Given the description of an element on the screen output the (x, y) to click on. 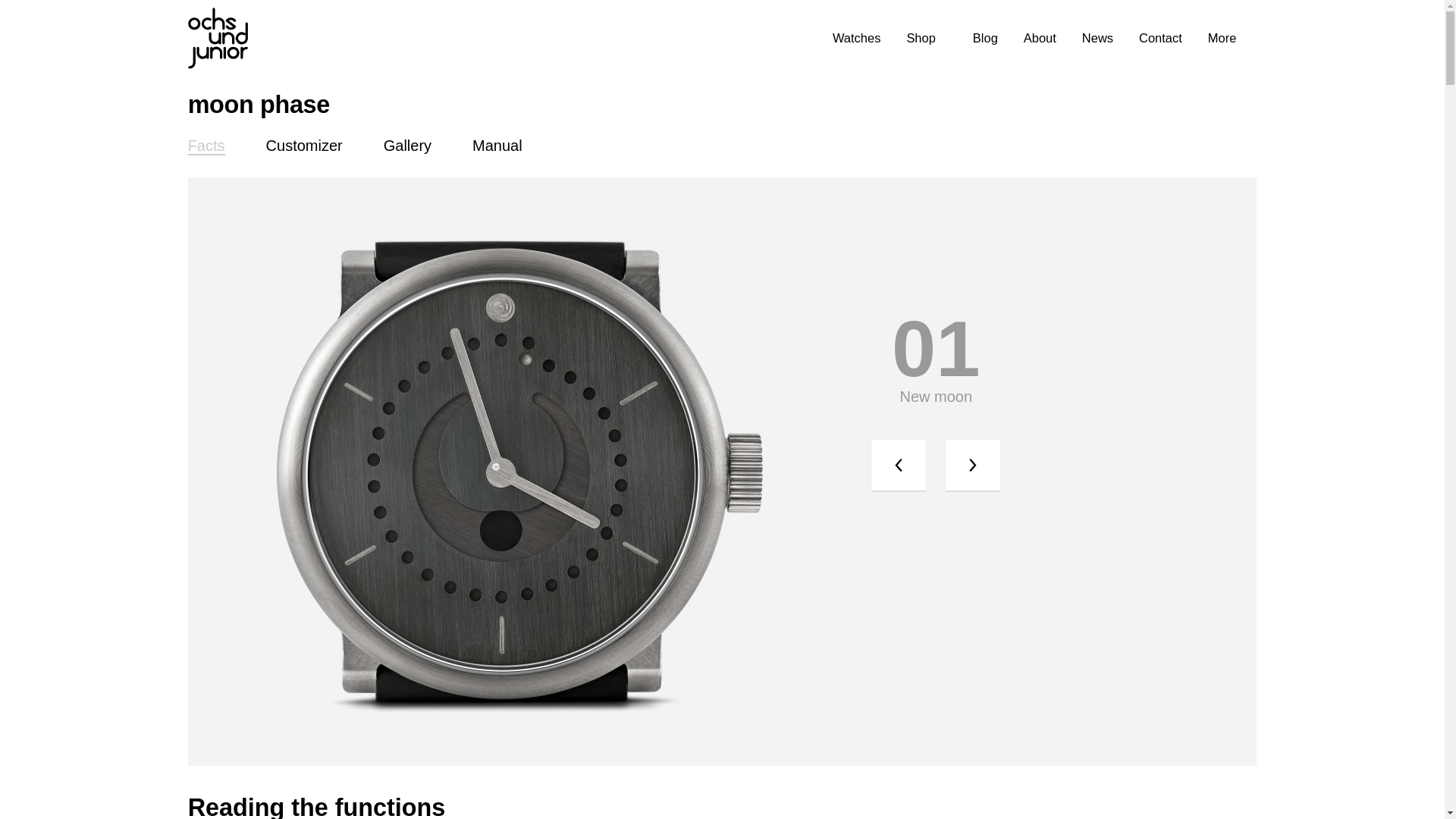
About (1039, 37)
Gallery (407, 139)
Customizer (304, 139)
News (1097, 37)
Blog (985, 37)
Contact (1160, 37)
Manual (496, 139)
Shop (921, 37)
More (1222, 37)
Watches (856, 37)
